Given the description of an element on the screen output the (x, y) to click on. 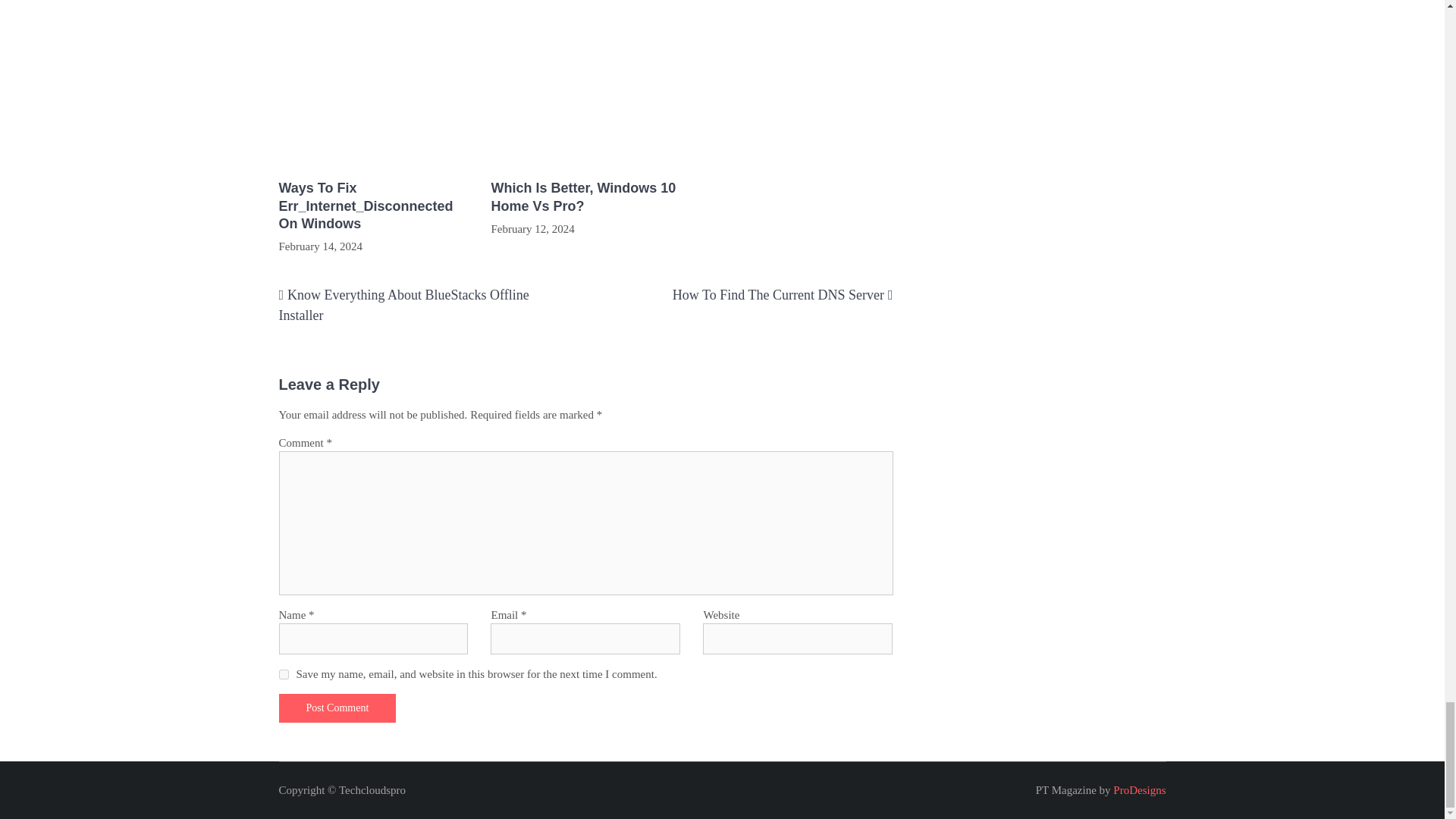
Post Comment (337, 707)
yes (283, 674)
Know Everything About BlueStacks Offline Installer (404, 304)
How To Find The Current DNS Server (777, 294)
Post Comment (337, 707)
Which Is Better, Windows 10 Home Vs Pro? (584, 197)
